Given the description of an element on the screen output the (x, y) to click on. 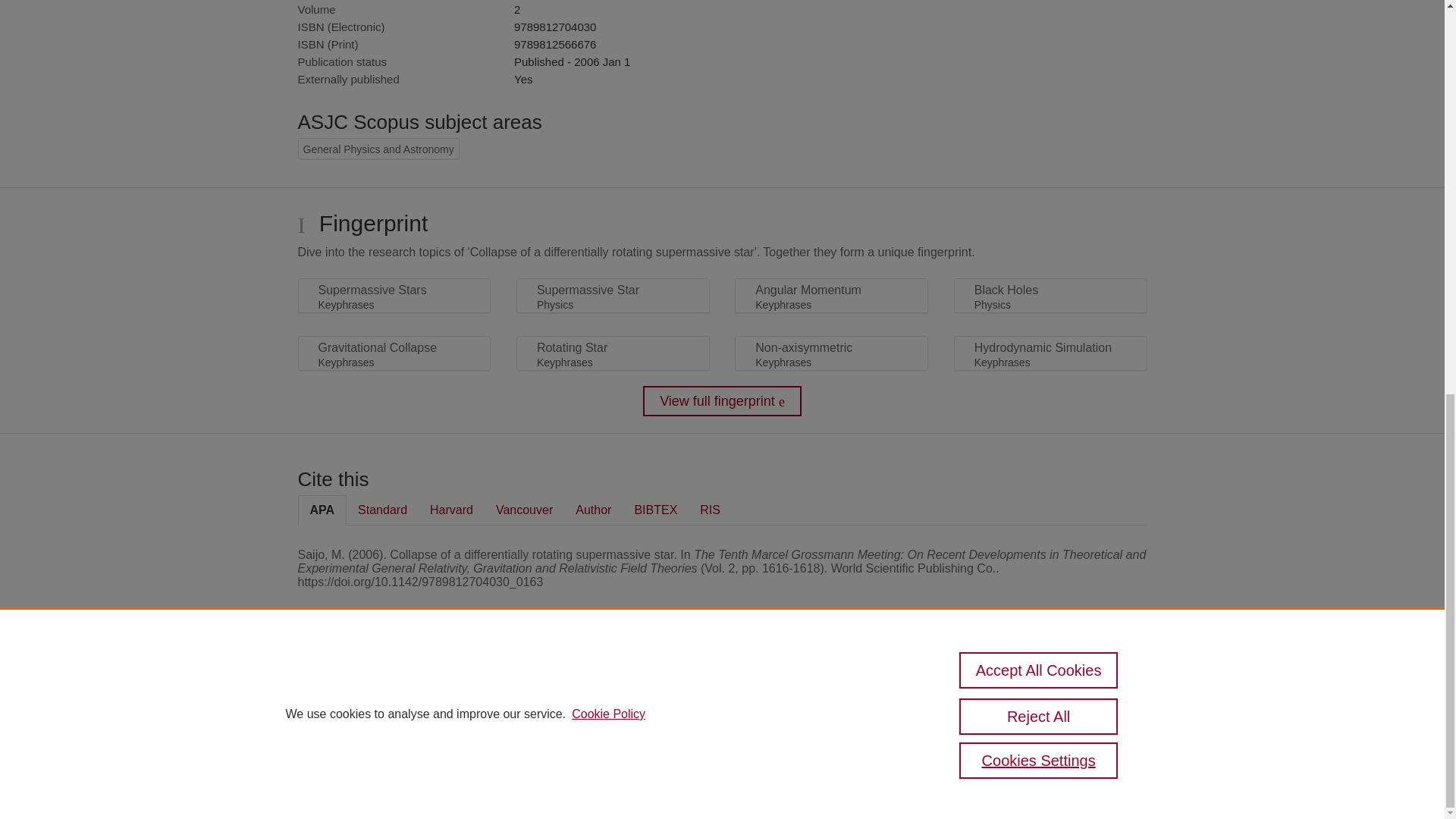
About web accessibility (1088, 693)
use of cookies (796, 740)
Pure (362, 687)
Scopus (394, 687)
Elsevier B.V. (506, 708)
Report vulnerability (1088, 725)
Log in to Pure (327, 781)
Cookies Settings (334, 761)
Cookies Settings (1038, 10)
View full fingerprint (722, 400)
